Given the description of an element on the screen output the (x, y) to click on. 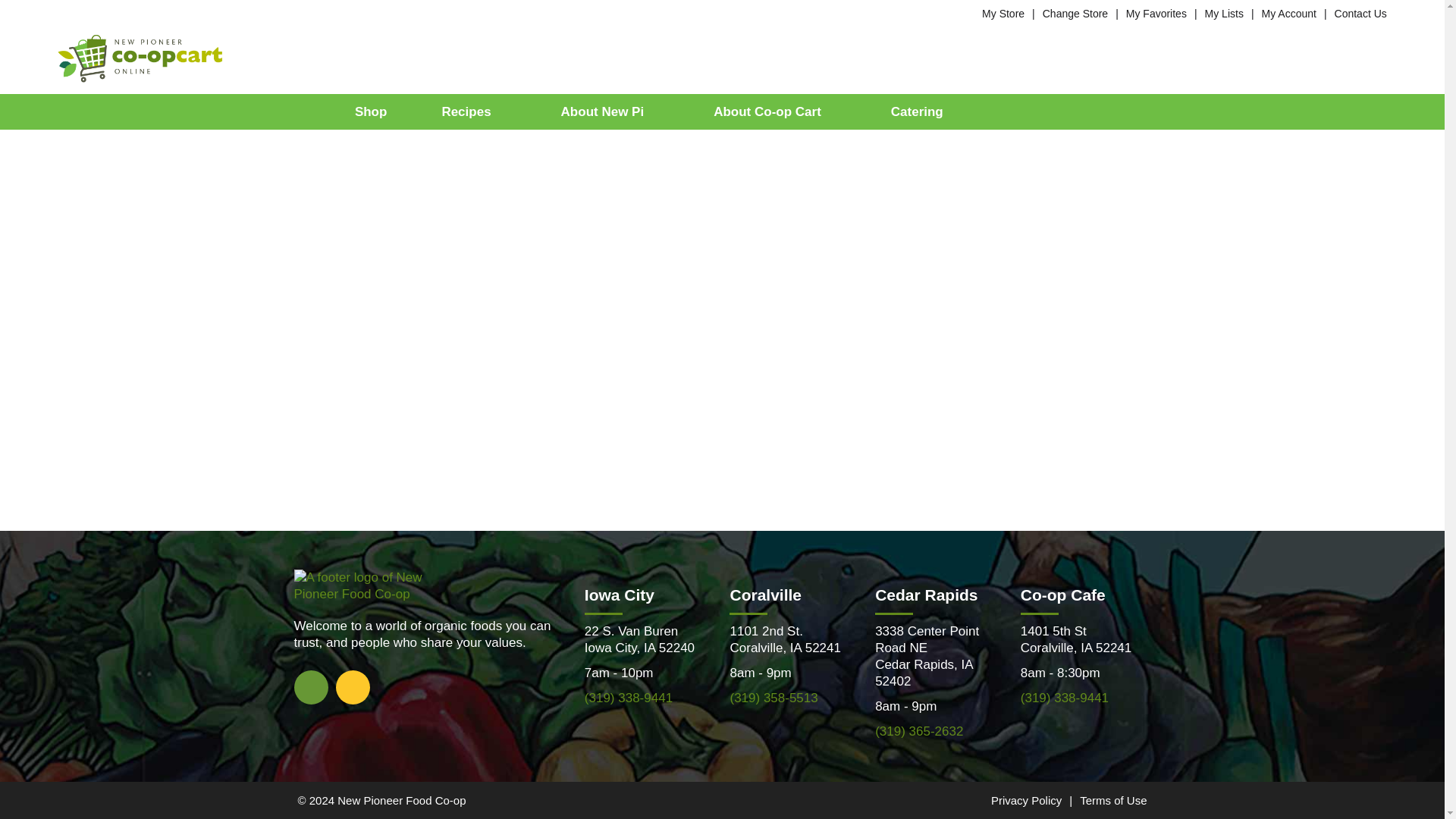
About New Pi (610, 111)
Shop (370, 111)
My Lists (1224, 13)
instagram (351, 686)
My Favorites (1155, 13)
My Account (1289, 13)
About Co-op Cart (774, 111)
Recipes (472, 111)
My Store (1003, 13)
Contact Us (1361, 13)
